Given the description of an element on the screen output the (x, y) to click on. 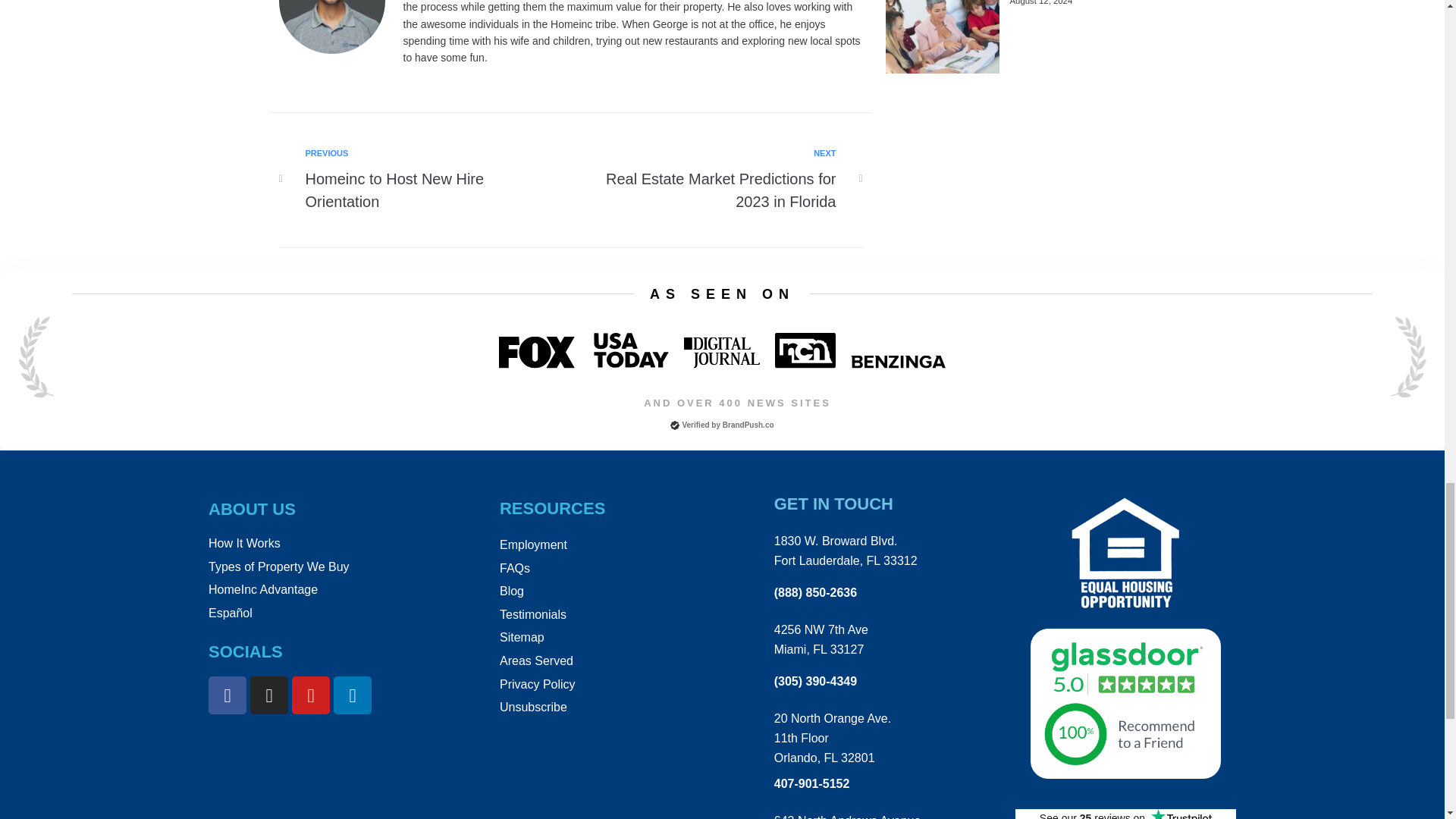
Customer reviews powered by Trustpilot (431, 180)
